Given the description of an element on the screen output the (x, y) to click on. 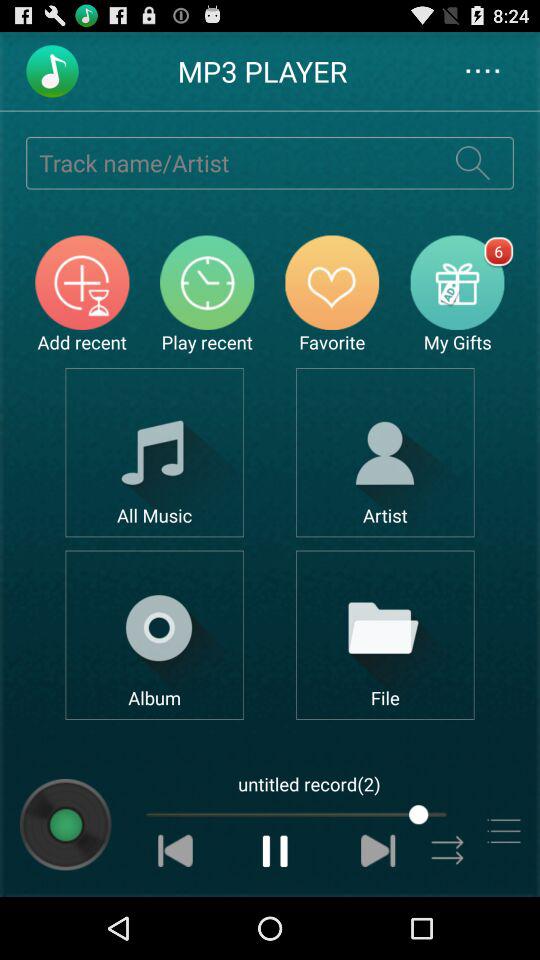
open artist selection (384, 452)
